Given the description of an element on the screen output the (x, y) to click on. 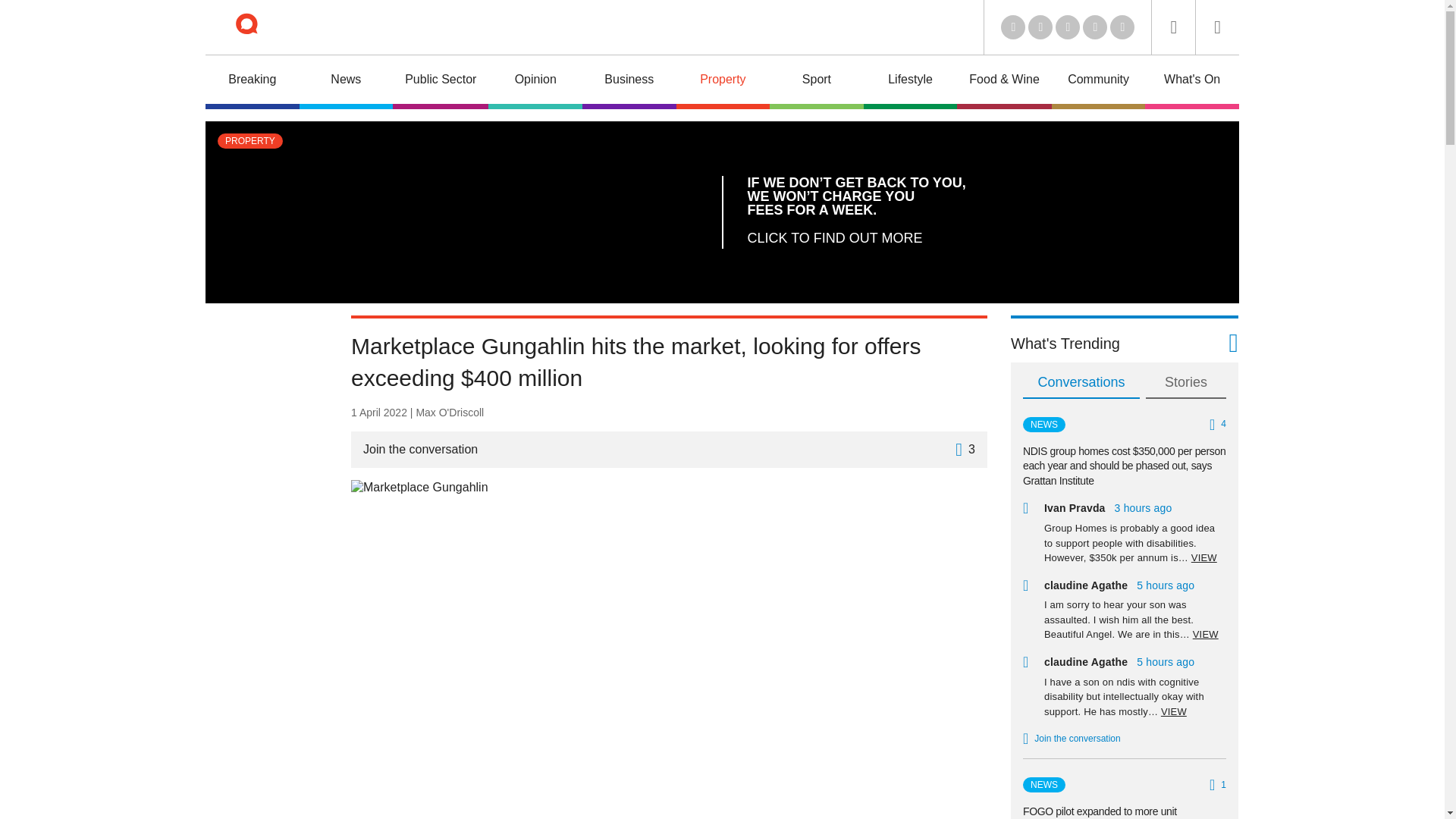
Riotact Home (267, 26)
Instagram (1121, 27)
Twitter (1039, 27)
News (346, 81)
Breaking (252, 81)
Facebook (1094, 27)
LinkedIn (1013, 27)
Youtube (1067, 27)
